Given the description of an element on the screen output the (x, y) to click on. 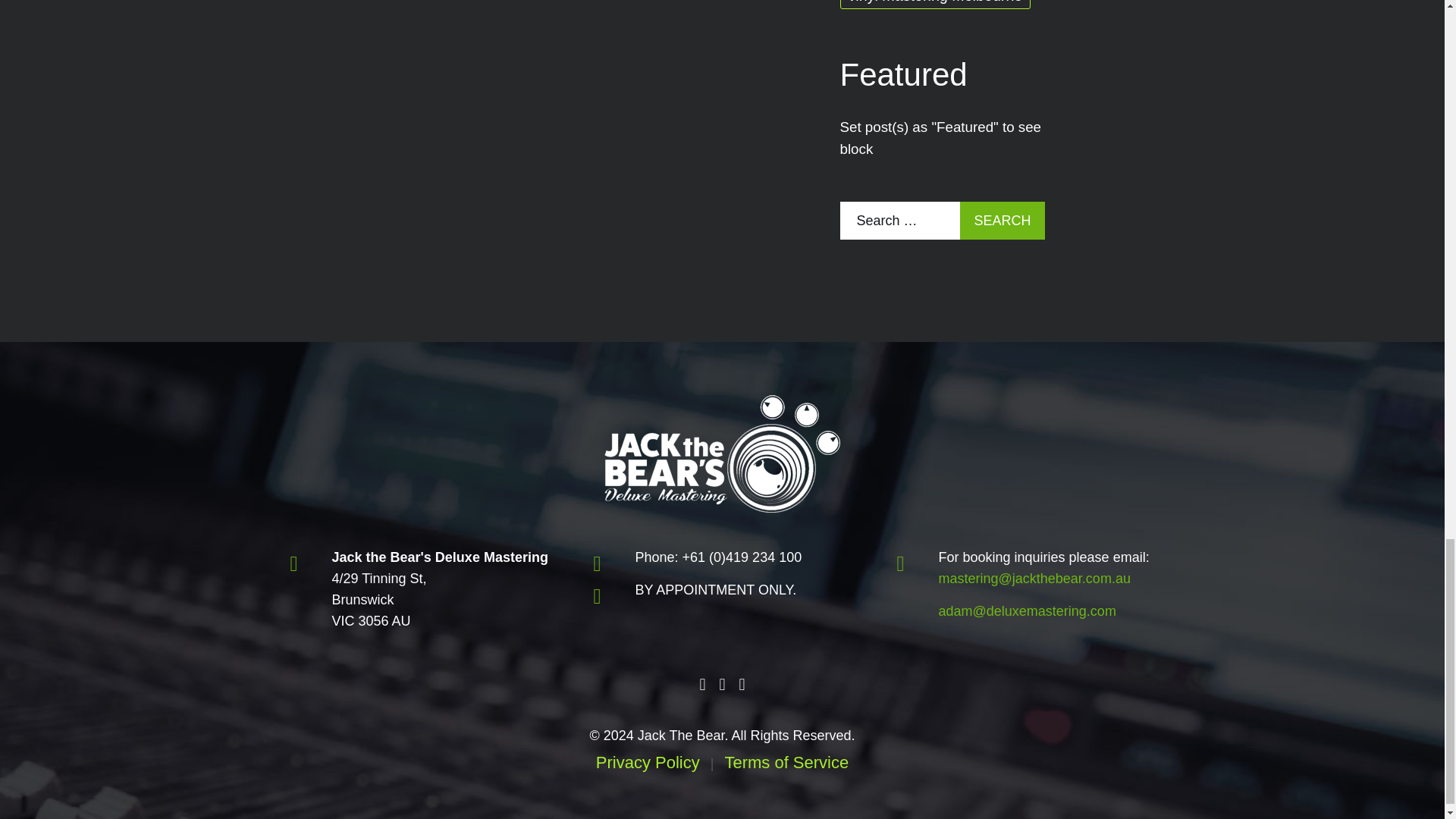
glorio (722, 453)
